Given the description of an element on the screen output the (x, y) to click on. 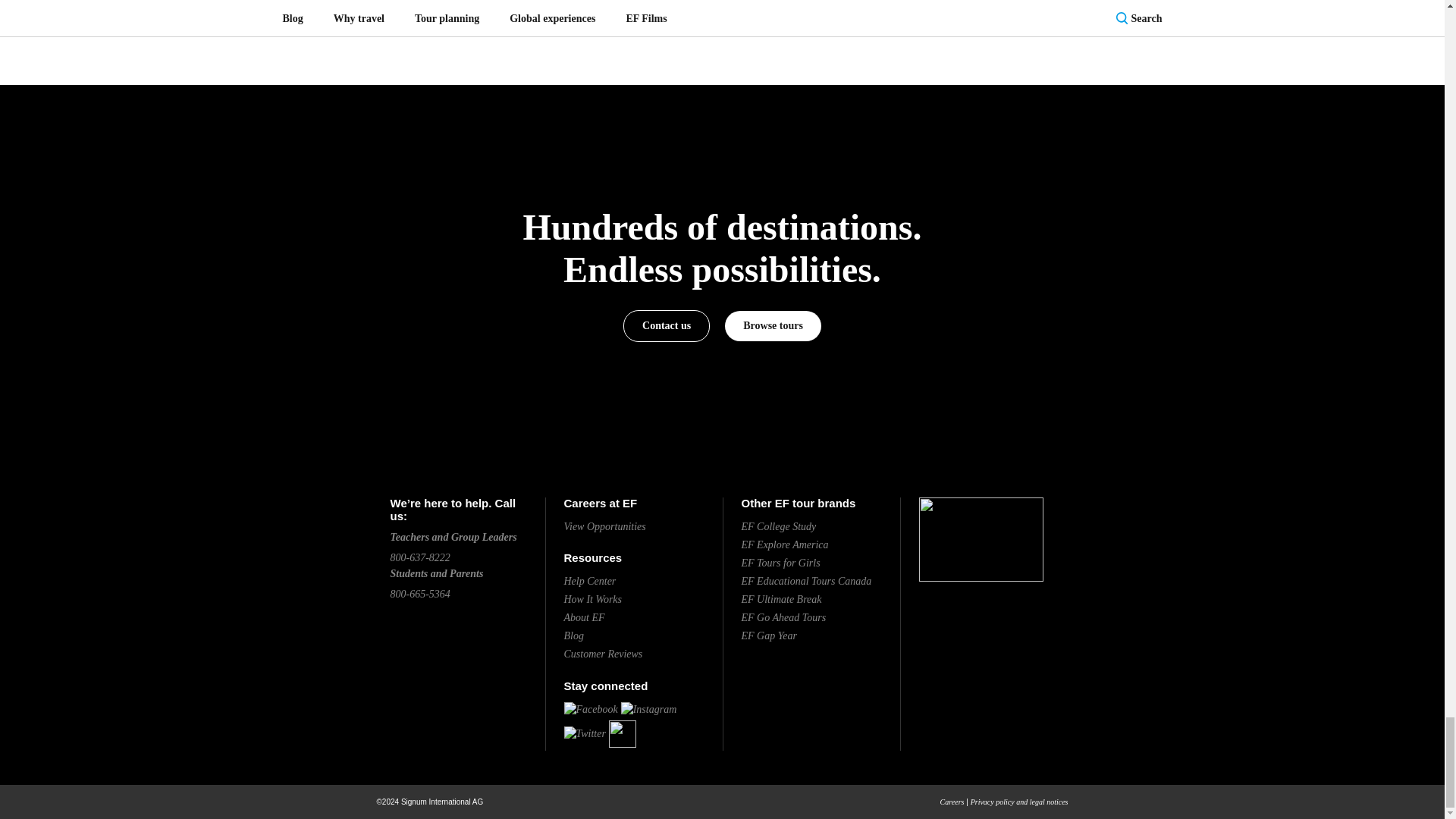
Educational Tours - Canada (806, 581)
Facebook (590, 708)
Twitter (584, 733)
EF Ultimate Break (781, 599)
College Study Tours (778, 526)
Gap Year (768, 635)
Explore America (784, 544)
Go Ahead Tours (784, 617)
Youtube (622, 733)
Girl Scouts (781, 562)
